Given the description of an element on the screen output the (x, y) to click on. 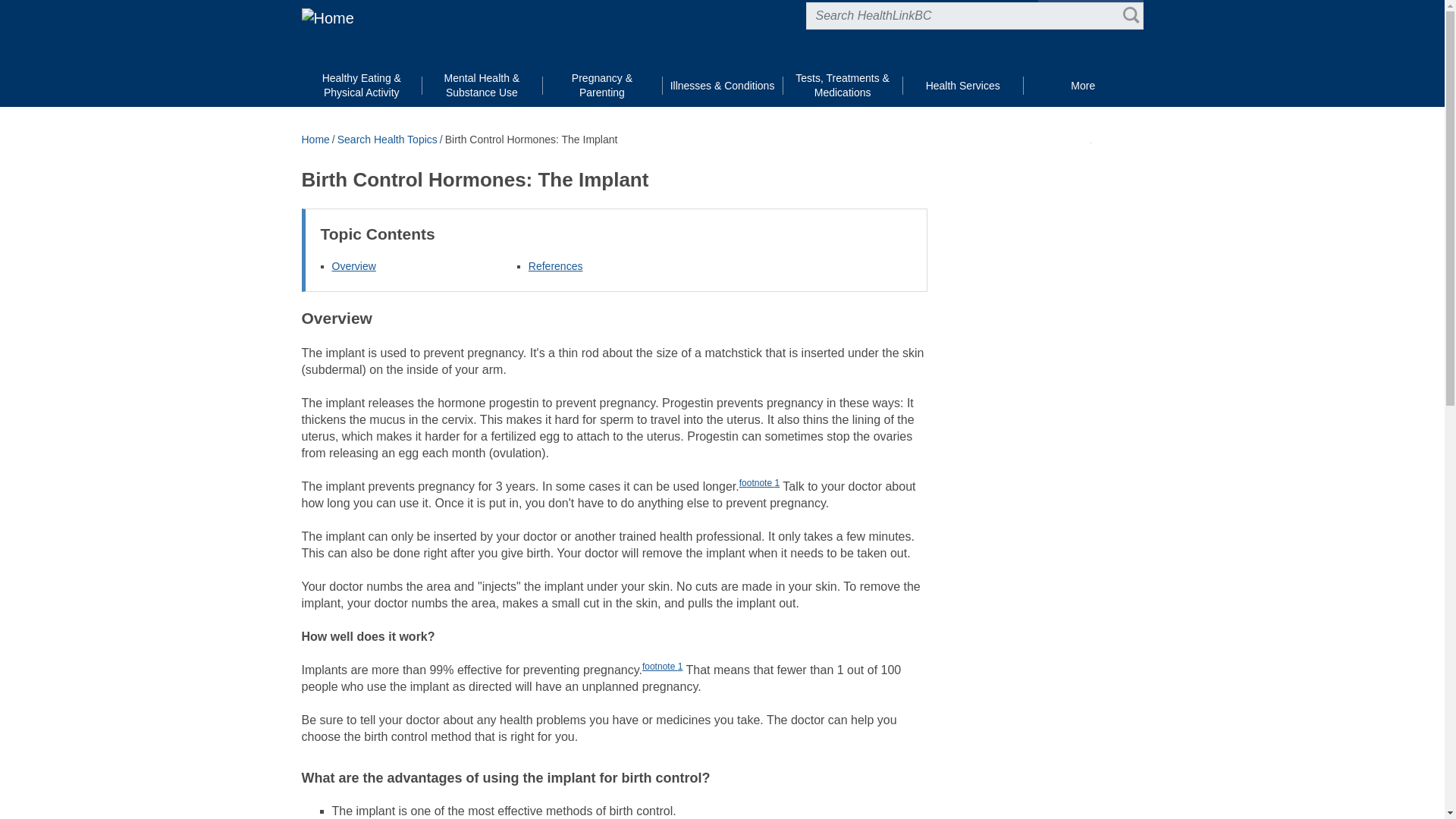
Expand menu More (1082, 86)
Print (1082, 138)
Search (1130, 14)
Home (327, 17)
Email a link (1133, 138)
Search (1130, 14)
GOV.BC.CA MENU (1090, 9)
Expand menu Health Services (962, 86)
Provide feedback (1107, 138)
